Given the description of an element on the screen output the (x, y) to click on. 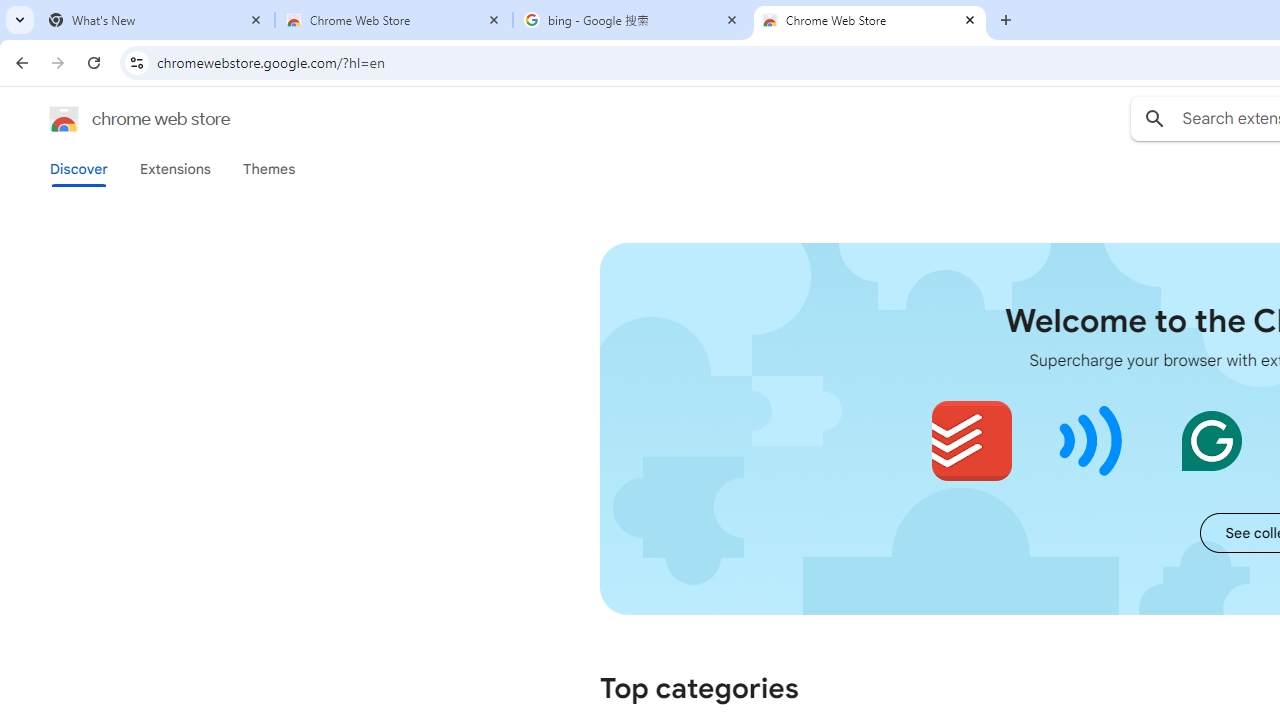
What's New (156, 20)
Themes (269, 169)
Chrome Web Store (870, 20)
Chrome Web Store logo (63, 118)
Extensions (174, 169)
Volume Master (1091, 440)
Chrome Web Store logo chrome web store (118, 118)
Chrome Web Store (394, 20)
